Given the description of an element on the screen output the (x, y) to click on. 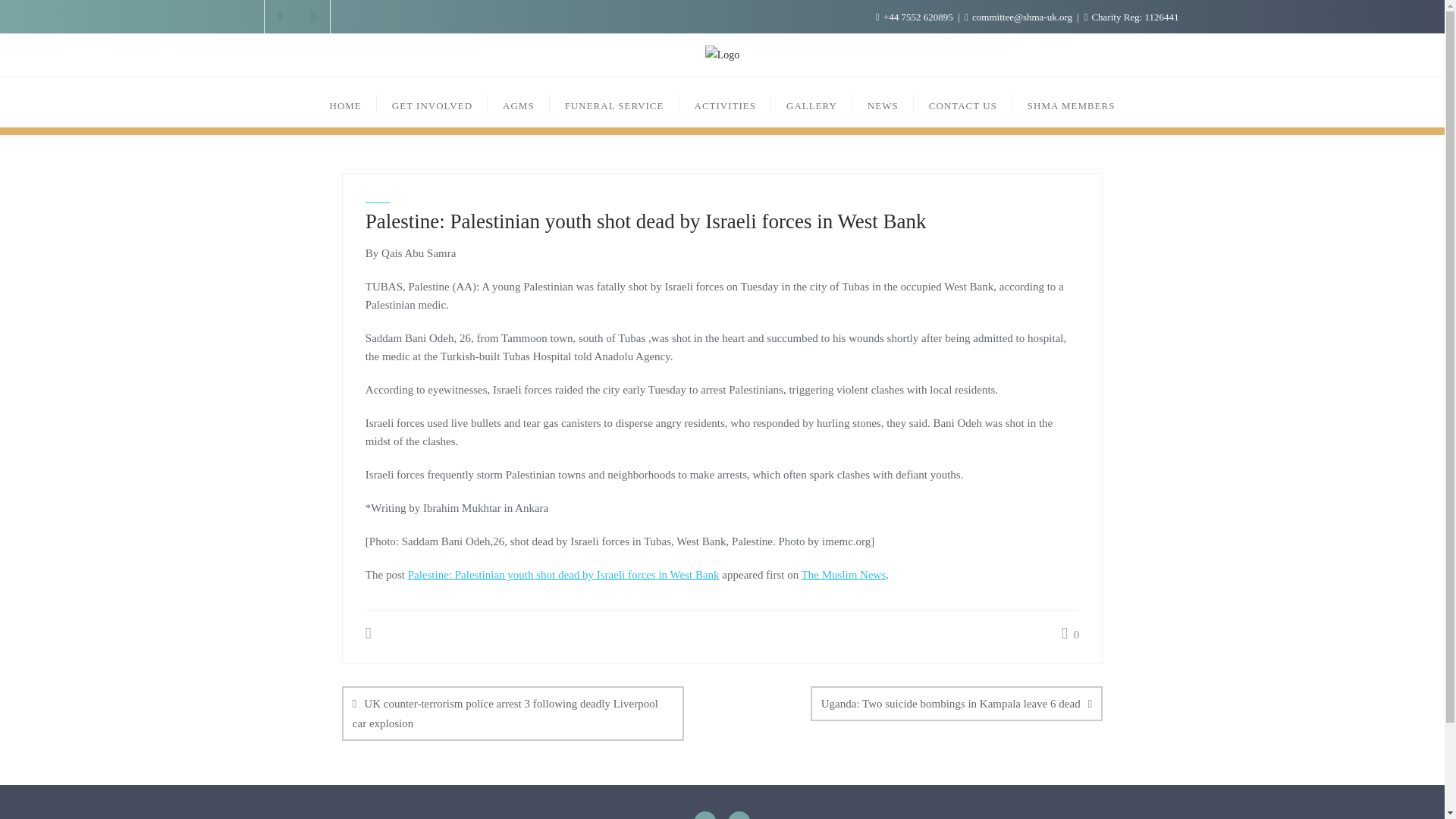
FUNERAL SERVICE (614, 101)
GET INVOLVED (432, 101)
NEWS (882, 101)
AGMS (518, 101)
Charity Reg: 1126441 (1130, 16)
GALLERY (811, 101)
The Muslim News (844, 574)
Uganda: Two suicide bombings in Kampala leave 6 dead (956, 702)
